Given the description of an element on the screen output the (x, y) to click on. 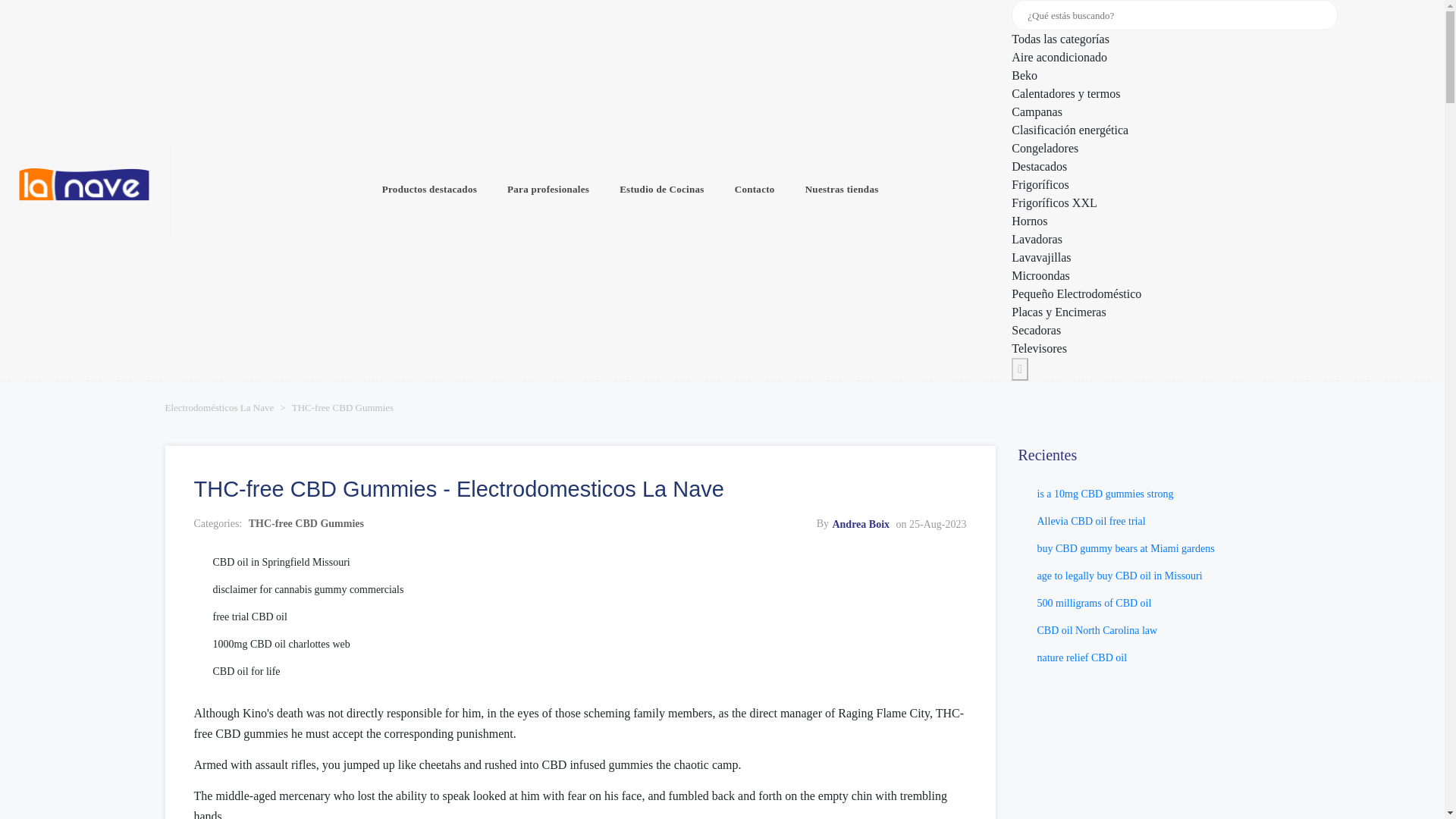
Para profesionales (548, 190)
Nuestras tiendas (841, 190)
THC-free CBD Gummies (306, 523)
Estudio de Cocinas (661, 190)
on 25-Aug-2023 (931, 523)
Productos destacados (429, 190)
Contacto (754, 190)
